Given the description of an element on the screen output the (x, y) to click on. 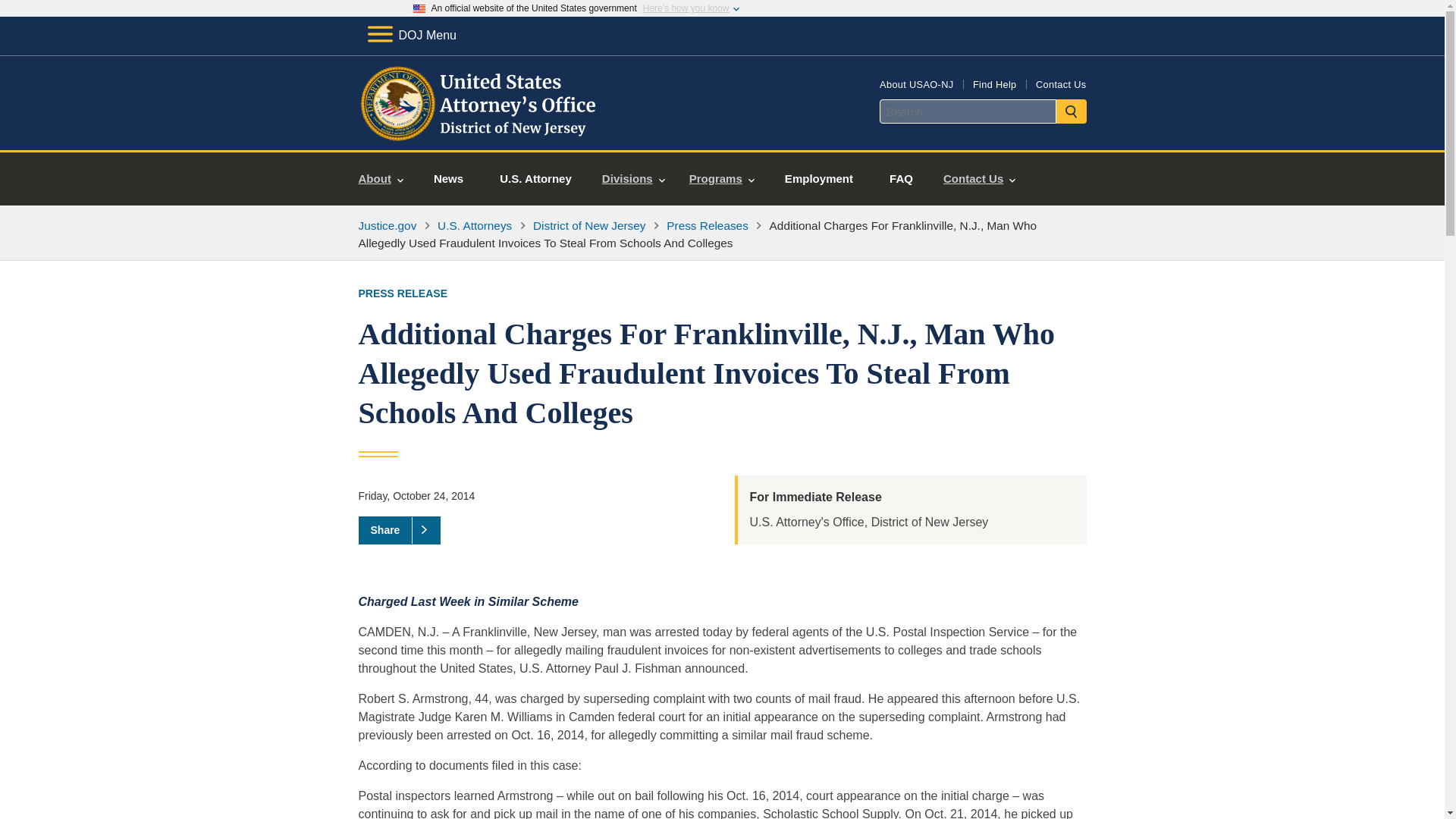
Home (481, 132)
Employment (818, 179)
Employment (818, 179)
U.S. Attorneys (475, 225)
News (447, 179)
Press Releases (707, 225)
Justice.gov (387, 225)
U.S. Attorney (535, 179)
DOJ Menu (411, 35)
Divisions (633, 179)
